Given the description of an element on the screen output the (x, y) to click on. 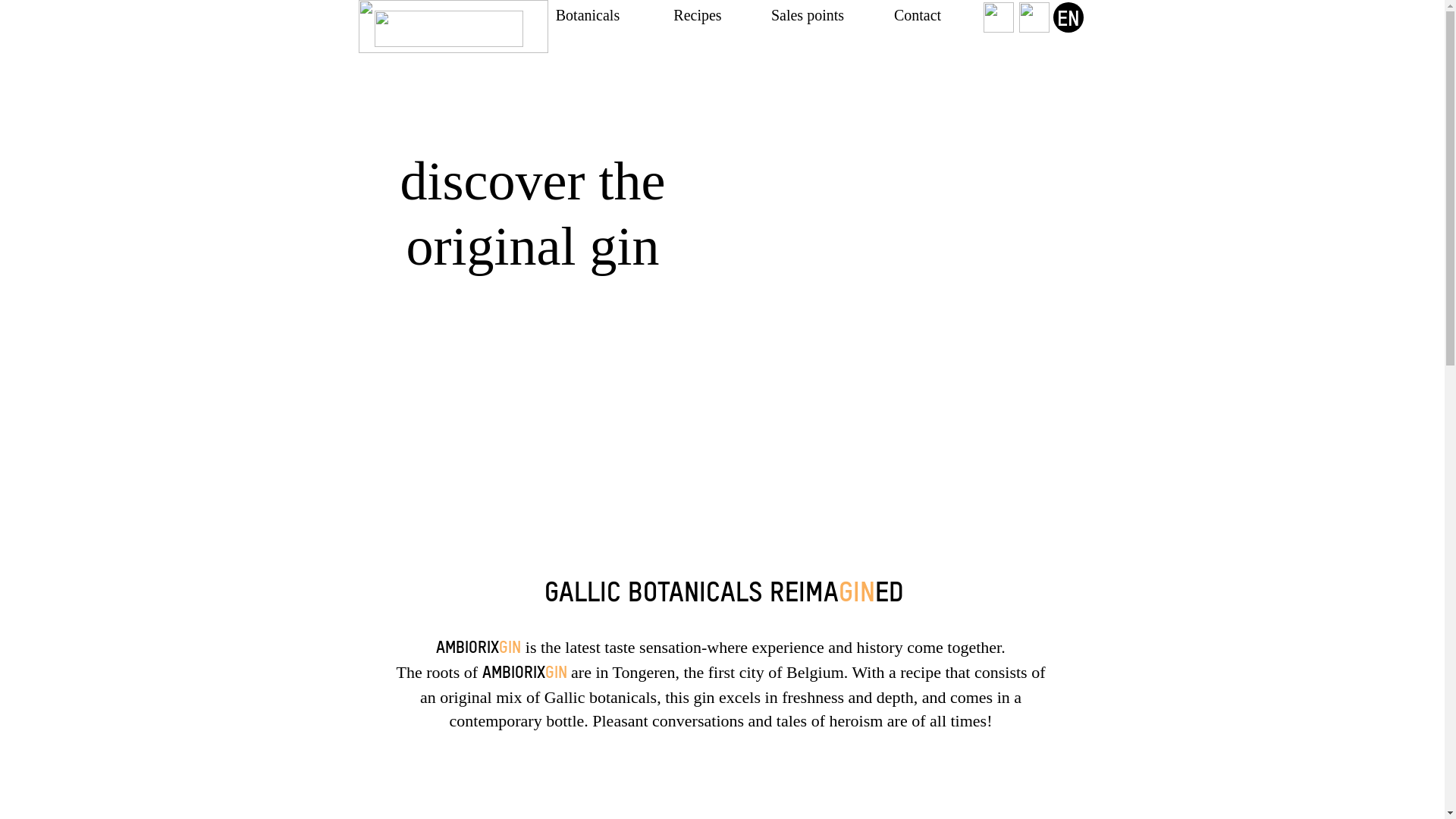
EN Element type: text (1067, 17)
